Given the description of an element on the screen output the (x, y) to click on. 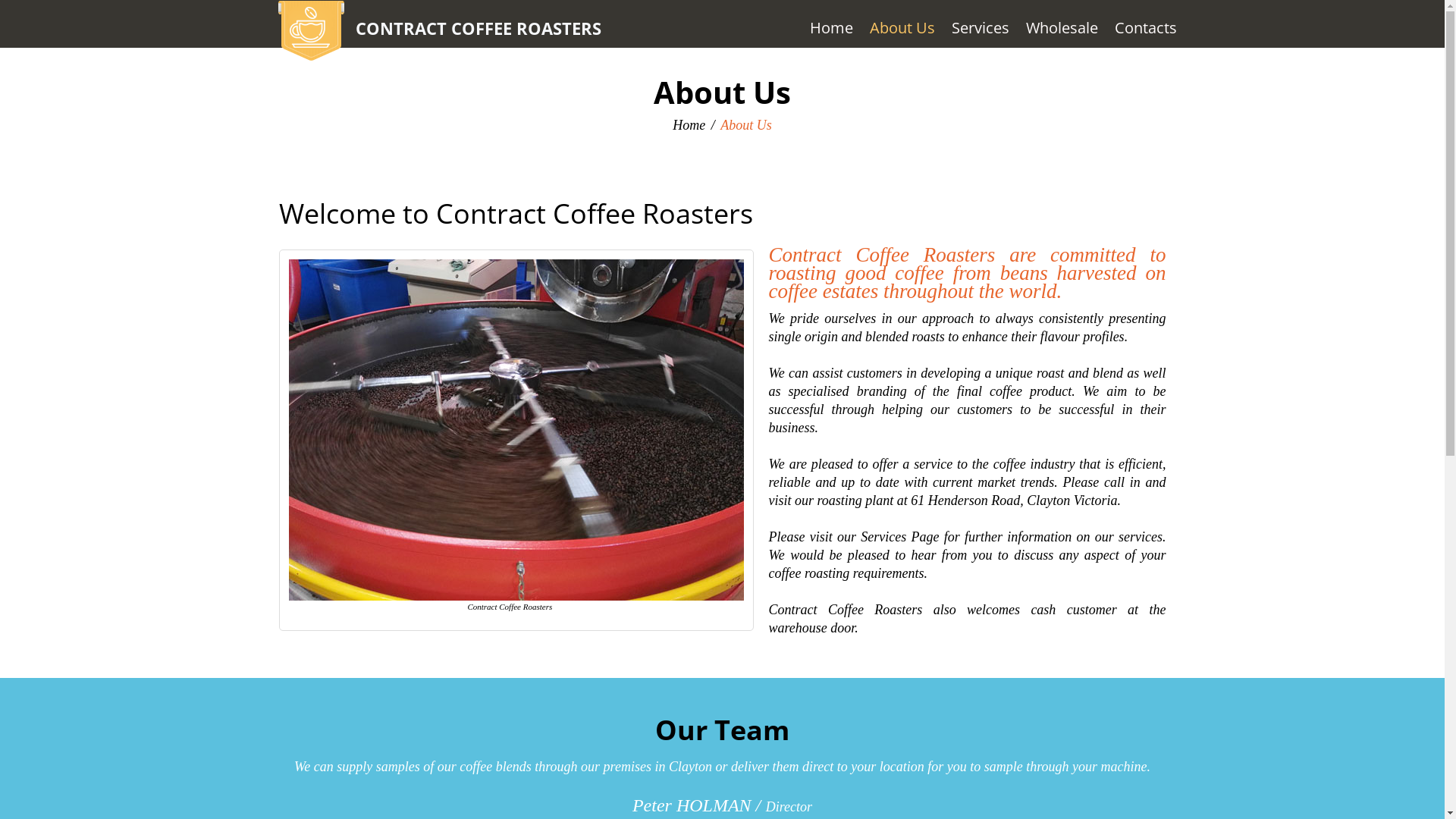
Contract Coffee Roasters Element type: hover (310, 30)
Home Element type: text (831, 27)
Home Element type: text (688, 124)
Wholesale Element type: text (1061, 27)
Contacts Element type: text (1145, 27)
Services Element type: text (979, 27)
About Us Element type: text (901, 27)
